Given the description of an element on the screen output the (x, y) to click on. 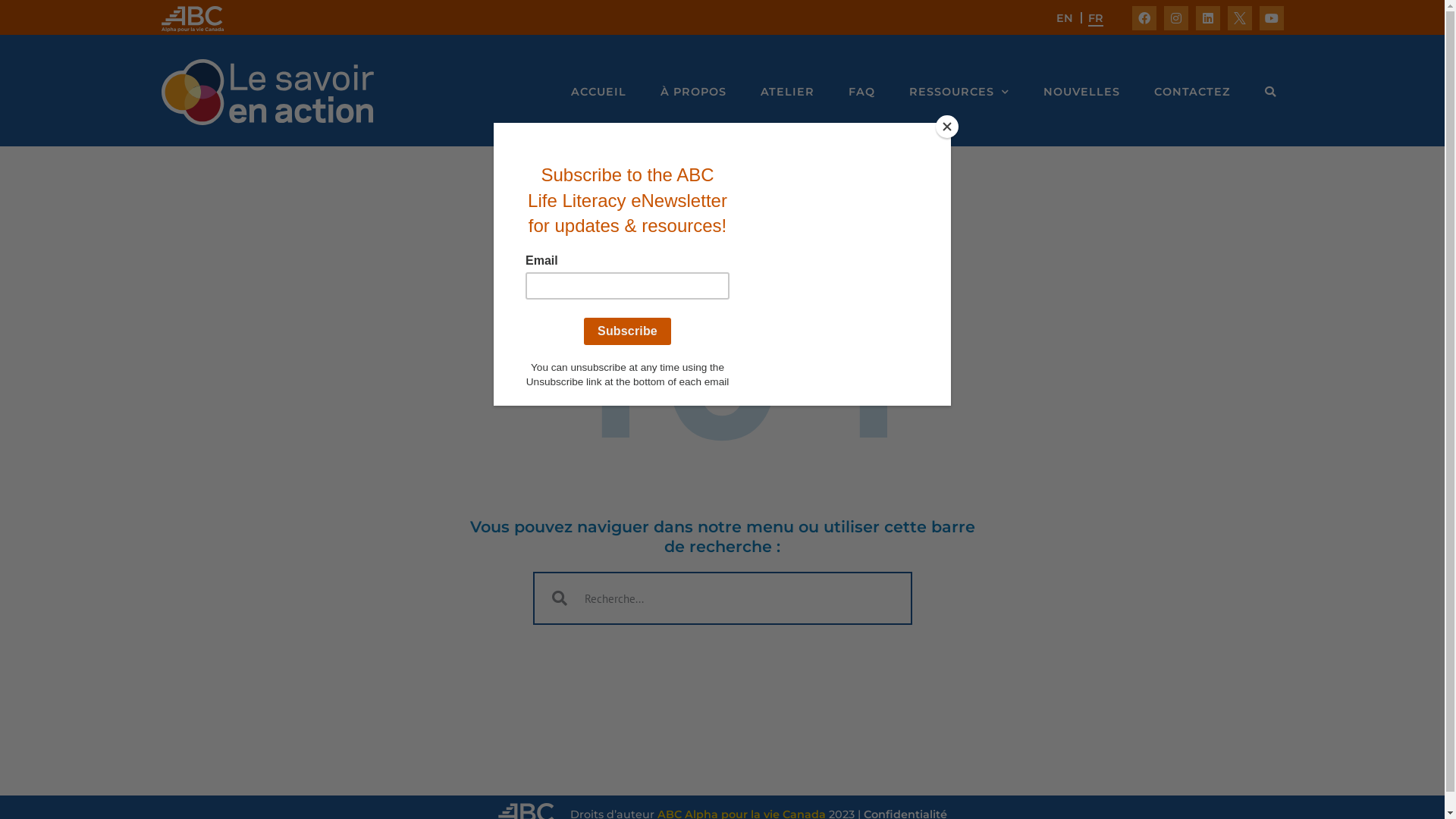
RESSOURCES Element type: text (958, 91)
Recherche Element type: hover (1270, 91)
EN Element type: text (1063, 18)
NOUVELLES Element type: text (1081, 91)
FAQ Element type: text (860, 91)
FR Element type: text (1094, 18)
ACCUEIL Element type: text (597, 91)
CONTACTEZ Element type: text (1192, 91)
ATELIER Element type: text (786, 91)
RECHERCHE Element type: text (1270, 91)
